Given the description of an element on the screen output the (x, y) to click on. 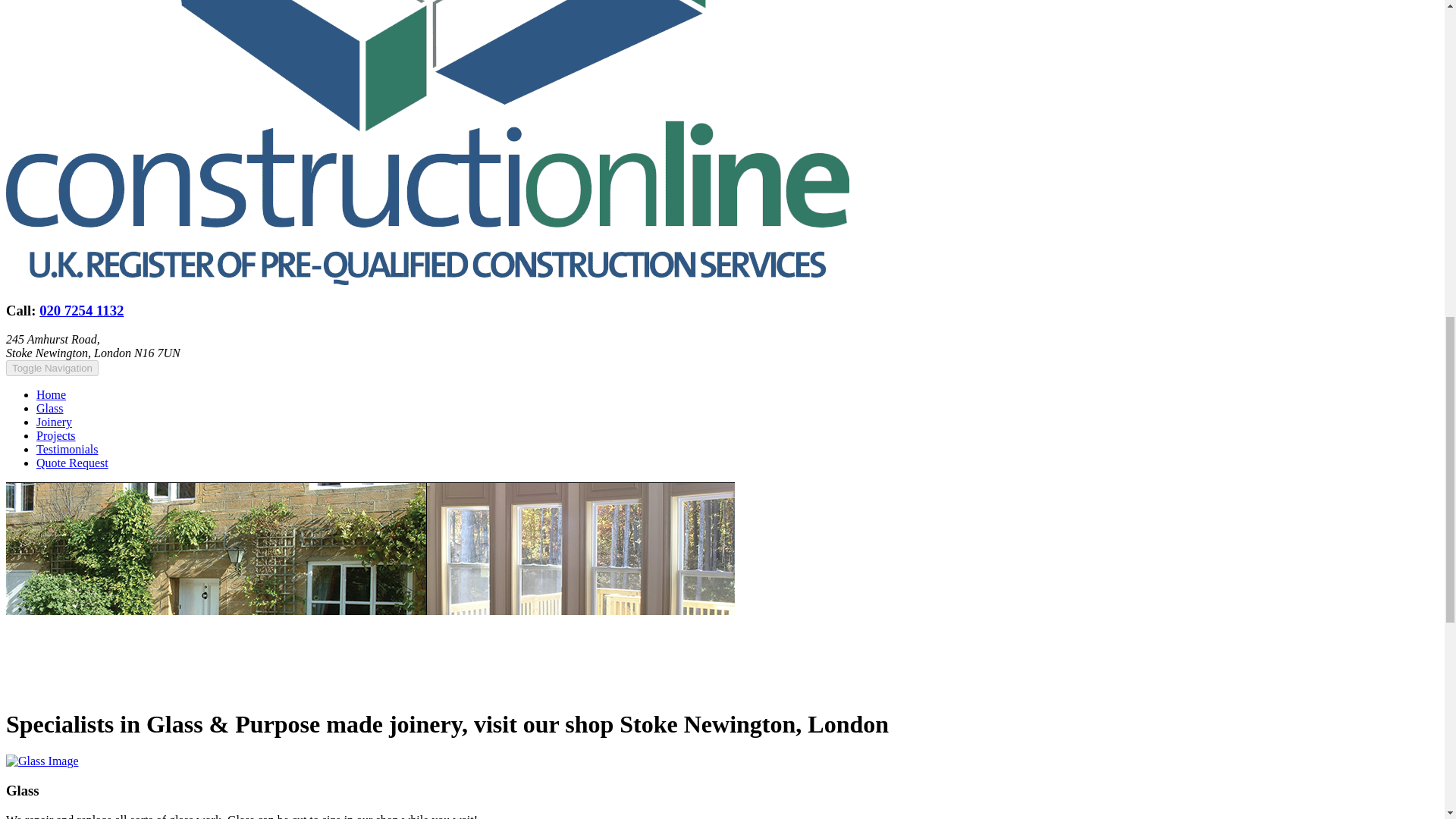
Quote Request (71, 462)
020 7254 1132 (81, 310)
Joinery (53, 421)
Home (50, 394)
Projects (55, 435)
Projects (55, 435)
Joinery (53, 421)
Quote Request (71, 462)
Glass (50, 408)
Testimonials (67, 449)
